Given the description of an element on the screen output the (x, y) to click on. 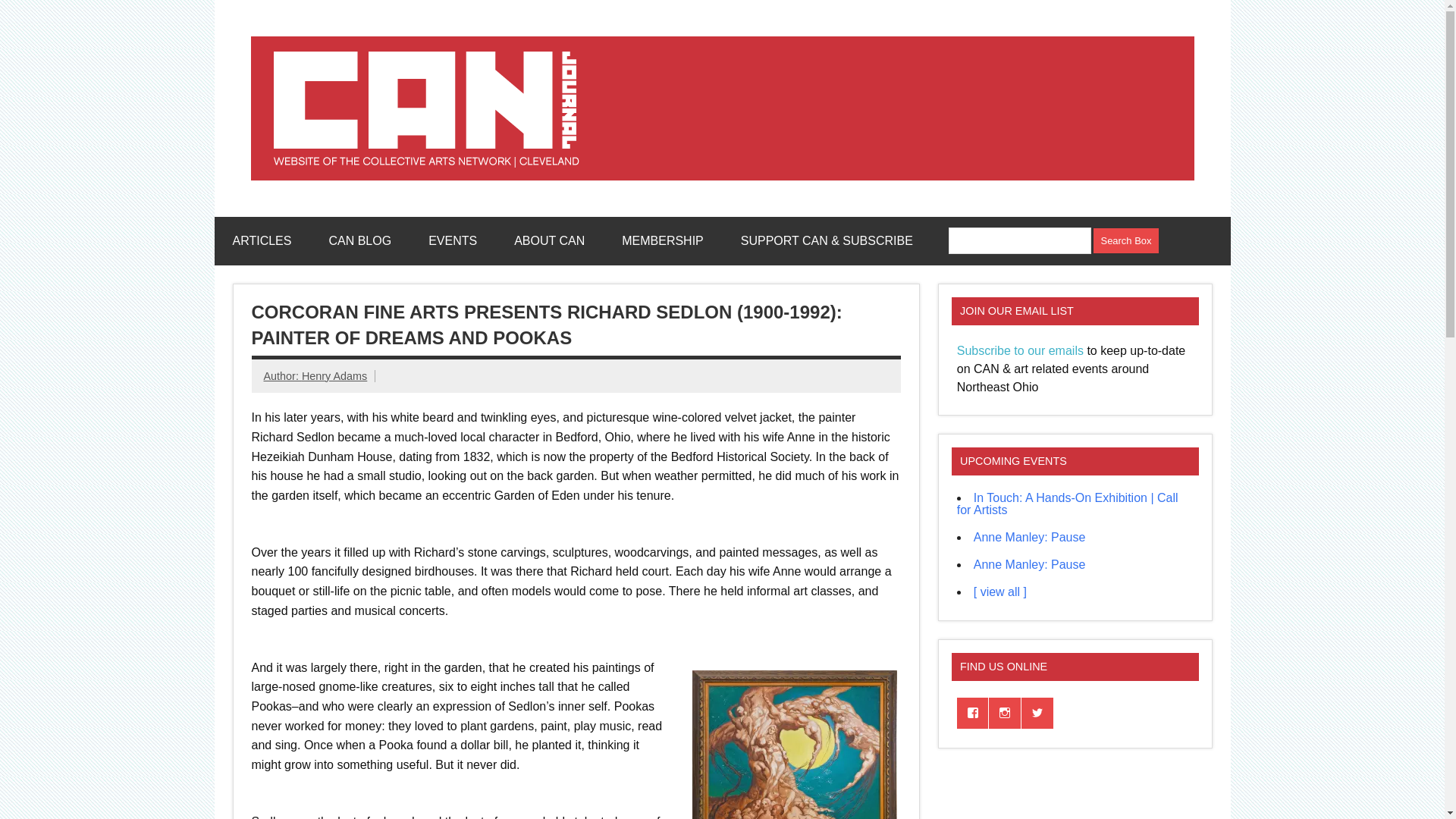
ABOUT CAN (549, 241)
Anne Manley: Pause (1030, 536)
Search Box (1125, 240)
ARTICLES (261, 241)
Anne Manley: Pause (1030, 563)
Subscribe to our emails (1019, 350)
MEMBERSHIP (663, 241)
CAN BLOG (359, 241)
Search Box (1125, 240)
EVENTS (452, 241)
View all posts by Michael Gill (282, 376)
Author: (282, 376)
Henry Adams (333, 376)
Posts by Henry Adams (333, 376)
